Given the description of an element on the screen output the (x, y) to click on. 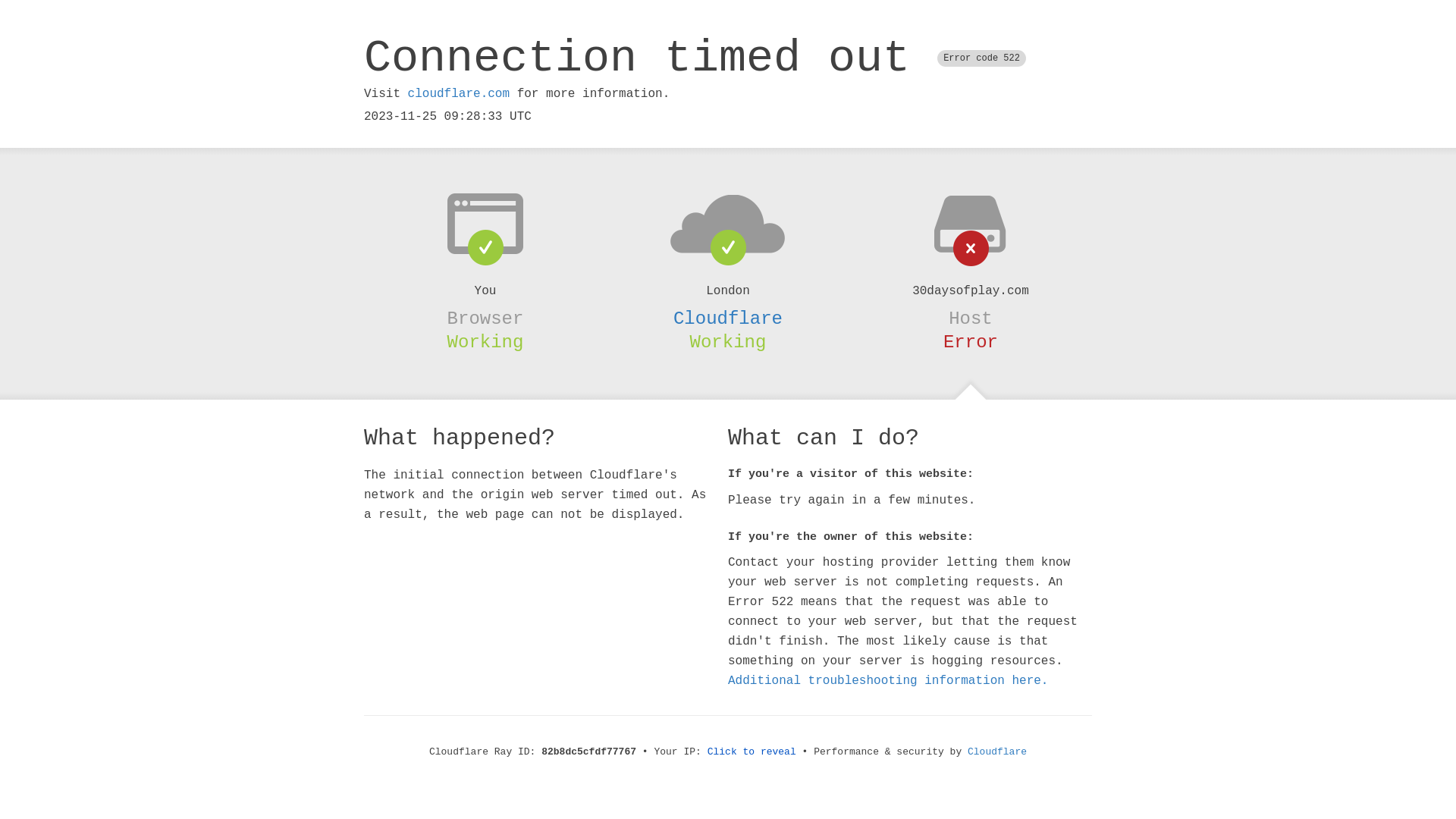
cloudflare.com Element type: text (458, 93)
Cloudflare Element type: text (727, 318)
Additional troubleshooting information here. Element type: text (888, 680)
Cloudflare Element type: text (996, 751)
Click to reveal Element type: text (751, 751)
